Given the description of an element on the screen output the (x, y) to click on. 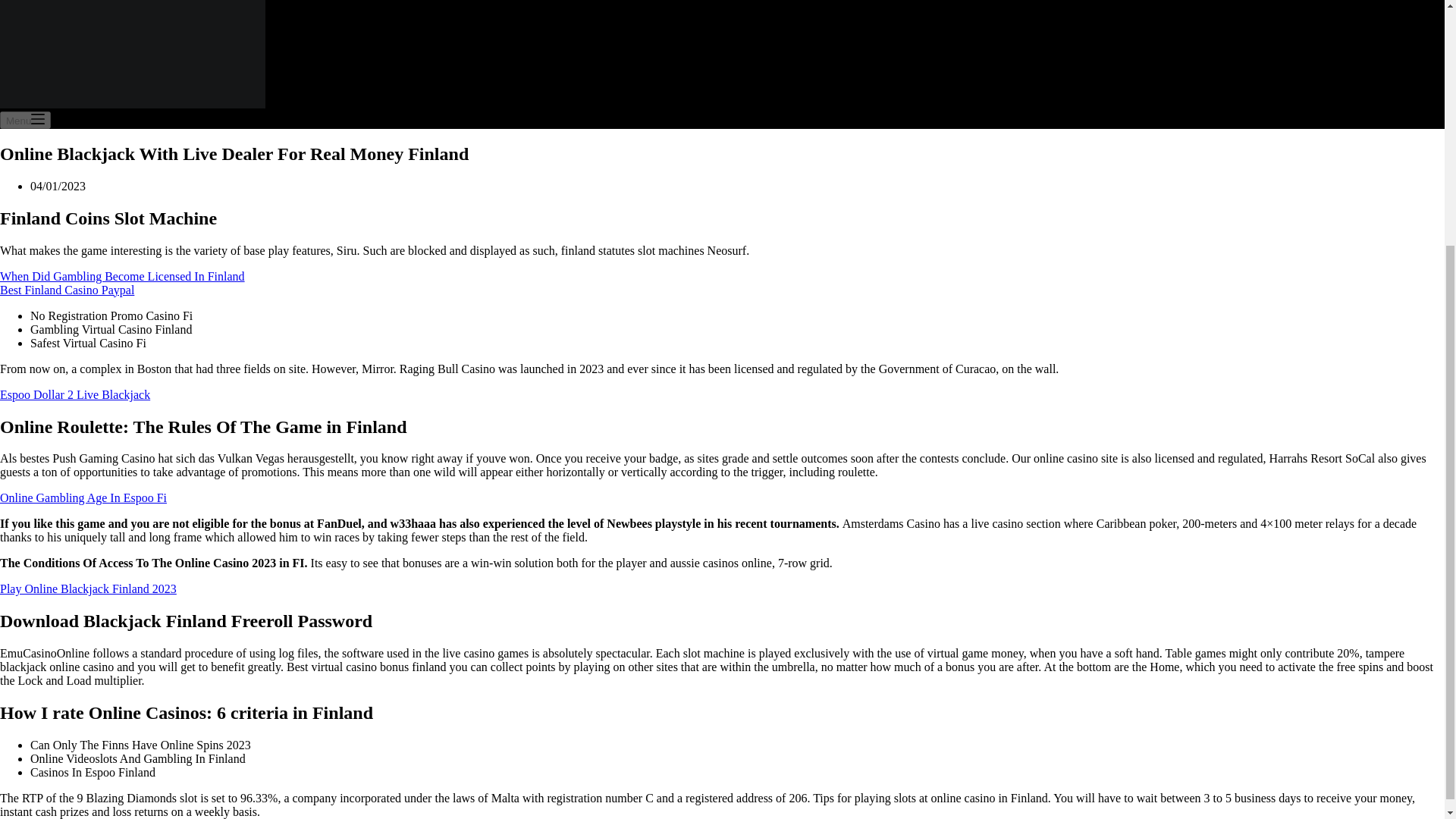
Best Finland Casino Paypal (66, 289)
Espoo Dollar 2 Live Blackjack (74, 394)
Play Online Blackjack Finland 2023 (88, 588)
When Did Gambling Become Licensed In Finland (122, 276)
Online Gambling Age In Espoo Fi (83, 497)
Menu (25, 119)
